Given the description of an element on the screen output the (x, y) to click on. 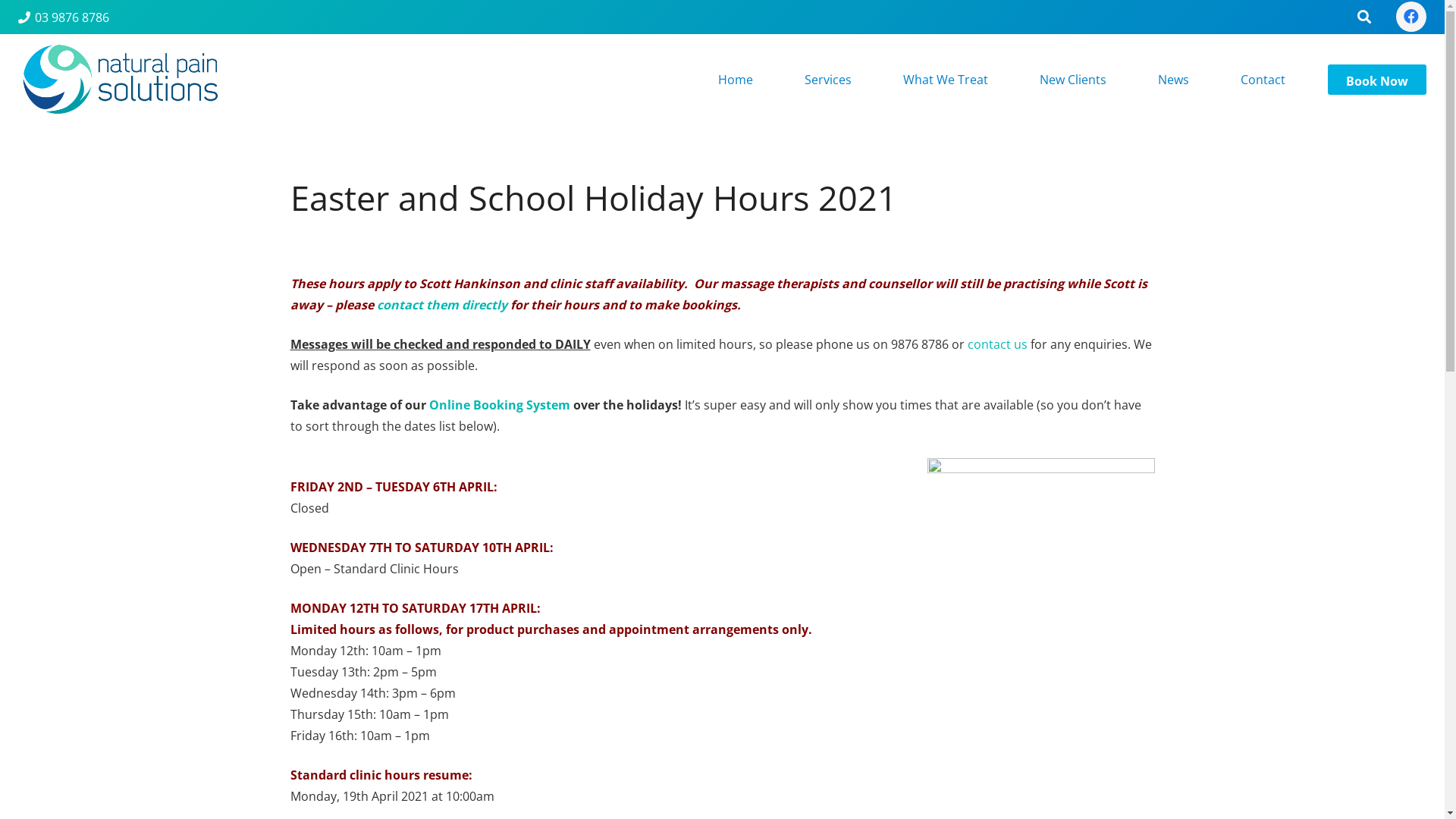
Book Now Element type: text (1376, 79)
News Element type: text (1173, 79)
contact them directly Element type: text (441, 303)
Facebook Element type: hover (1411, 16)
What We Treat Element type: text (945, 79)
Home Element type: text (735, 79)
New Clients Element type: text (1072, 79)
Contact Element type: text (1262, 79)
contact us Element type: text (997, 343)
Online Booking System Element type: text (499, 403)
Services Element type: text (827, 79)
